Given the description of an element on the screen output the (x, y) to click on. 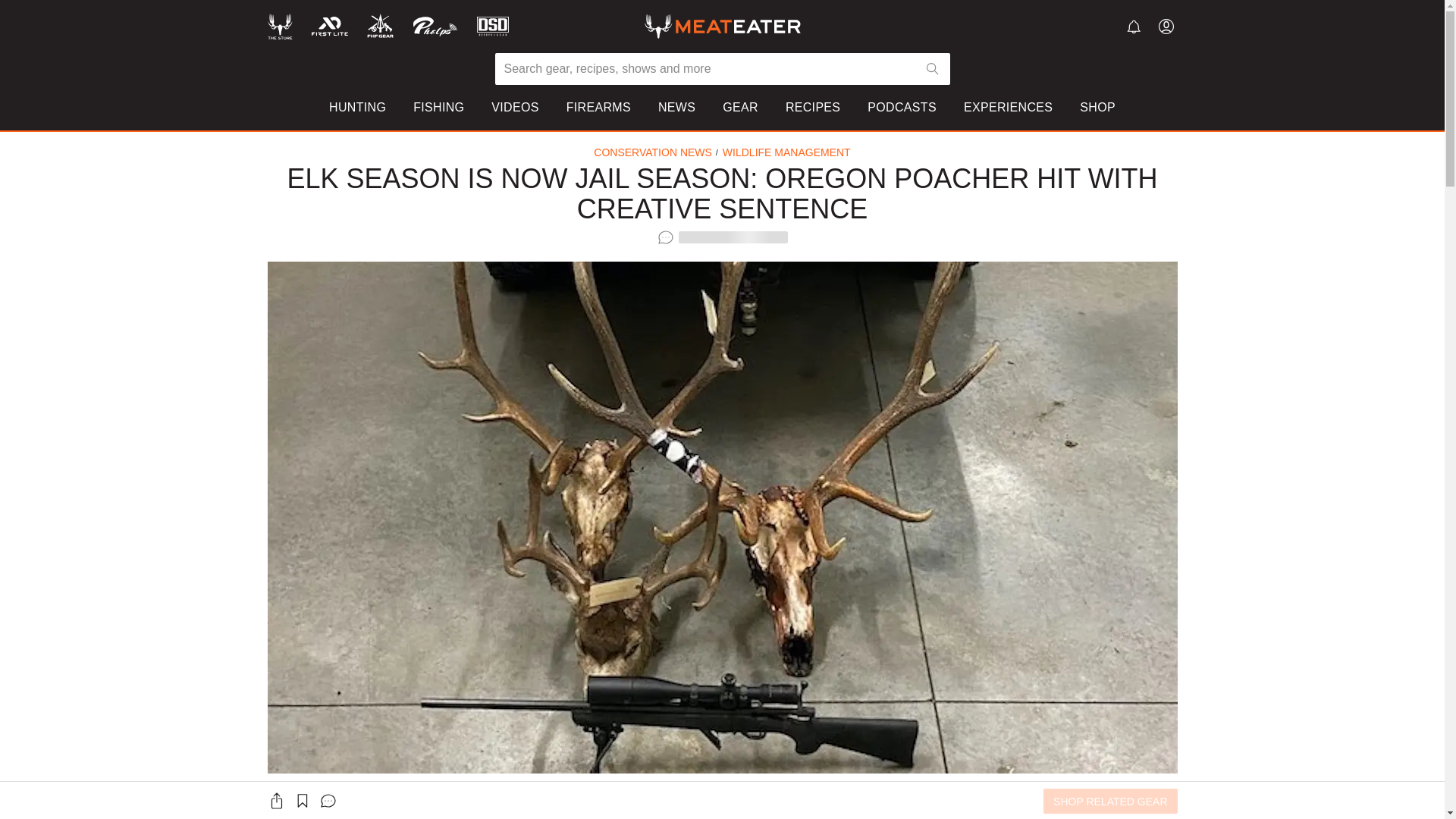
duck (1040, 177)
shot placement (763, 155)
jacket (905, 155)
pants (904, 177)
saddle hunting (408, 177)
whitetail hunting (413, 199)
deer butchering (764, 199)
trout (1039, 199)
bar room banter (596, 199)
gear we use (586, 155)
